Given the description of an element on the screen output the (x, y) to click on. 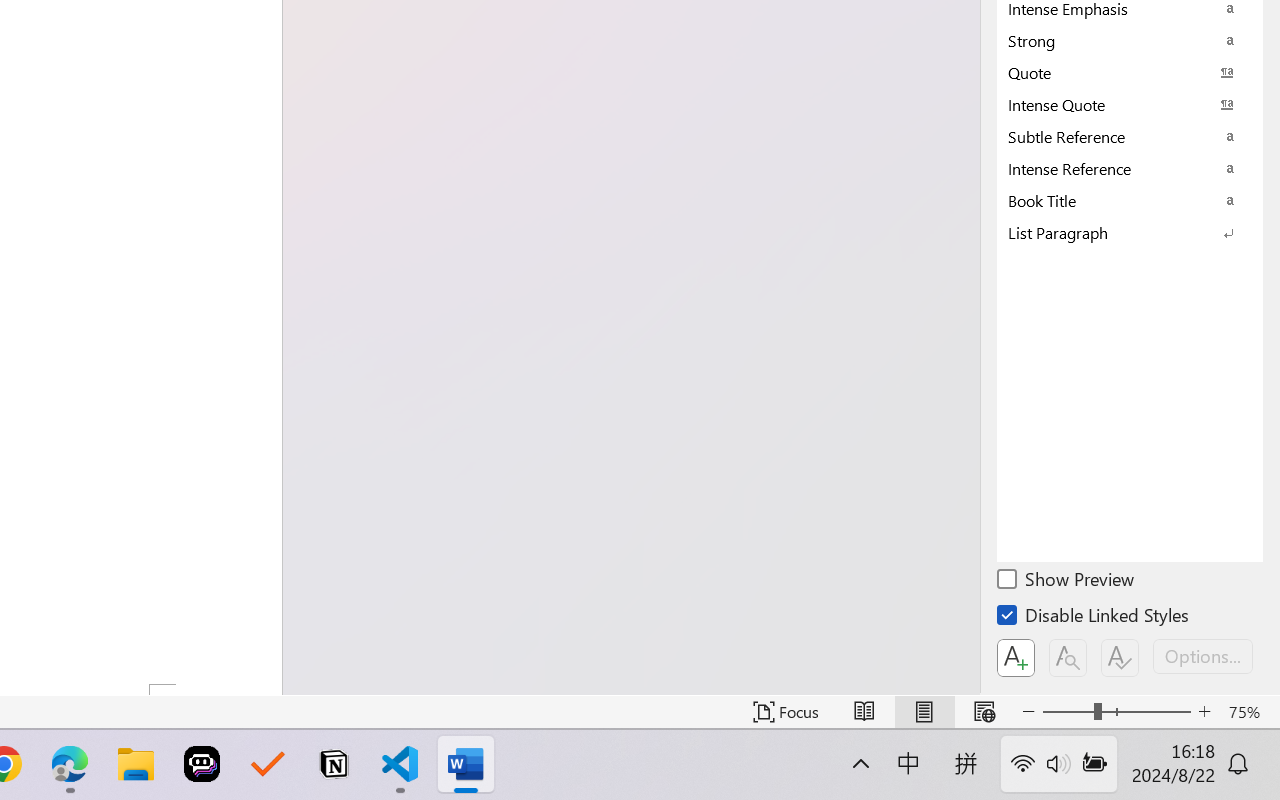
Strong (1130, 40)
Class: NetUIButton (1119, 657)
